Given the description of an element on the screen output the (x, y) to click on. 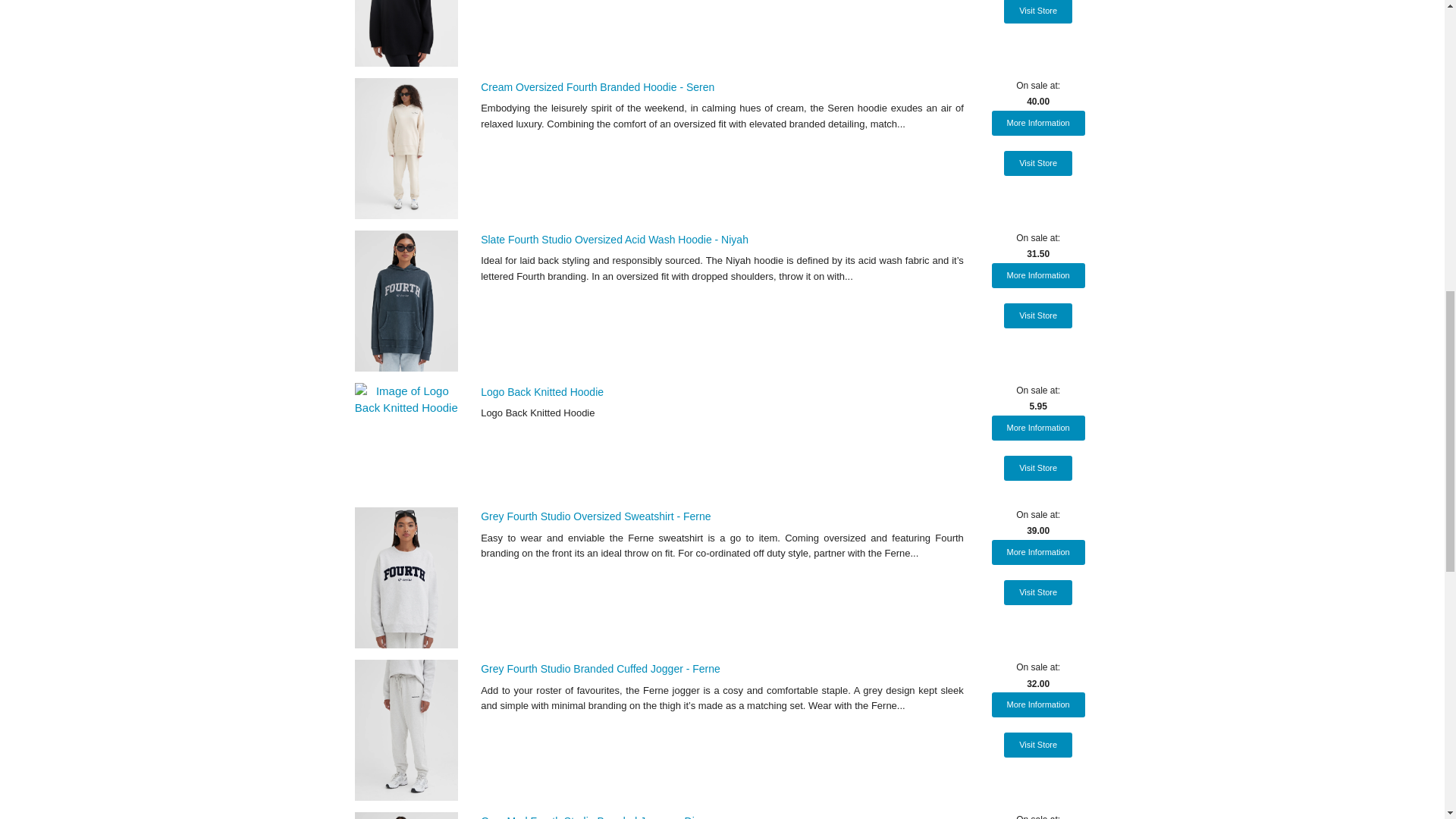
More Information (1037, 275)
Logo Back Knitted Hoodie (542, 391)
Visit Store (1037, 163)
Slate Fourth Studio Oversized Acid Wash Hoodie - Niyah (614, 239)
Cream Oversized Fourth Branded Hoodie - Seren (597, 87)
Visit Store (1037, 467)
More Information (1037, 552)
Visit Store (1037, 592)
Visit Store (1037, 11)
More Information (1037, 427)
